Given the description of an element on the screen output the (x, y) to click on. 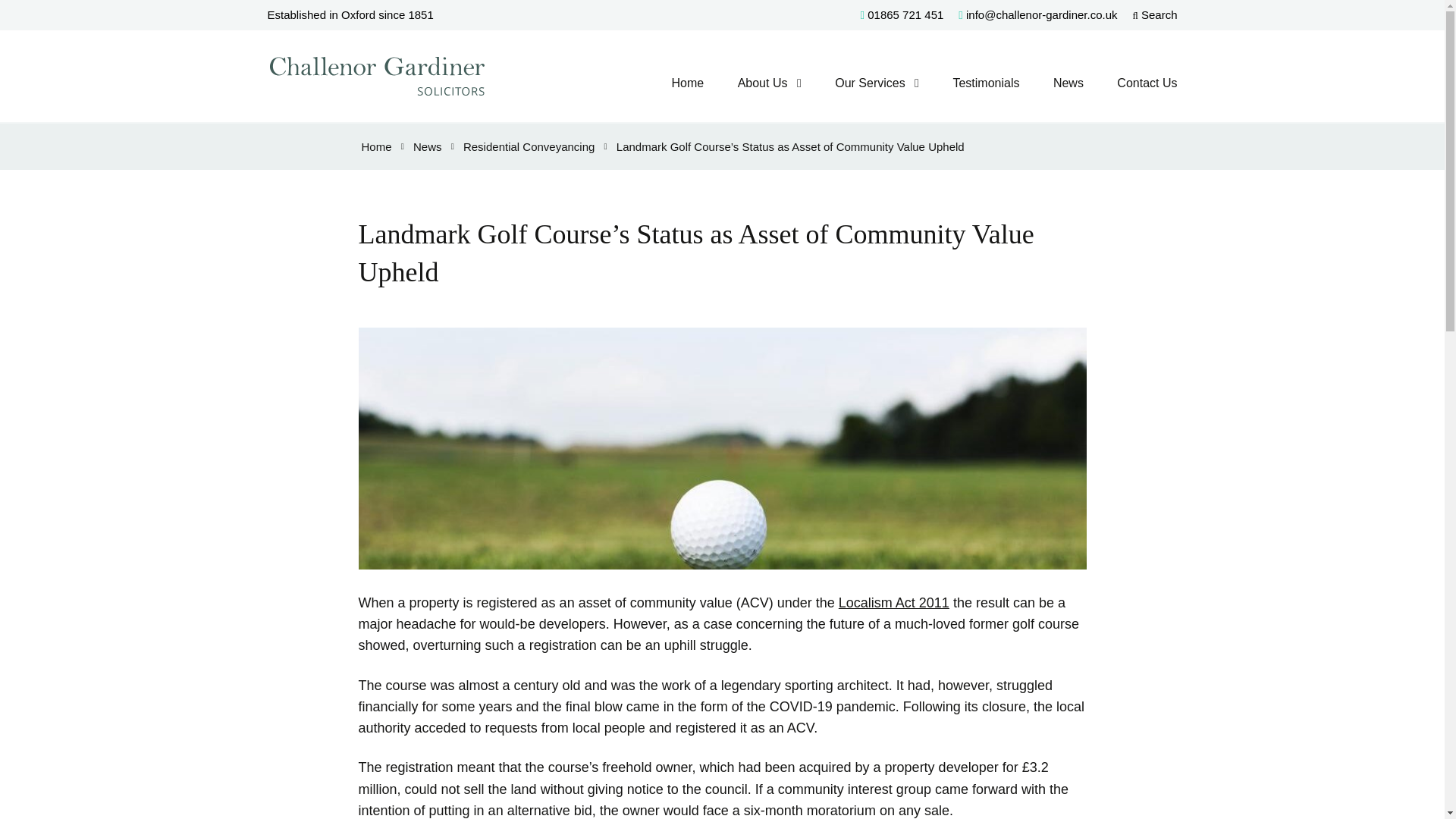
01865 721 451 (901, 14)
Search (1154, 14)
Contact Us (1146, 83)
Go to the Residential Conveyancing category archives. (528, 146)
Go to Home. (376, 146)
Home (687, 83)
Go to News. (427, 146)
Home (376, 146)
About Us (762, 83)
Testimonials (985, 83)
News (1067, 83)
Our Services (869, 83)
